Given the description of an element on the screen output the (x, y) to click on. 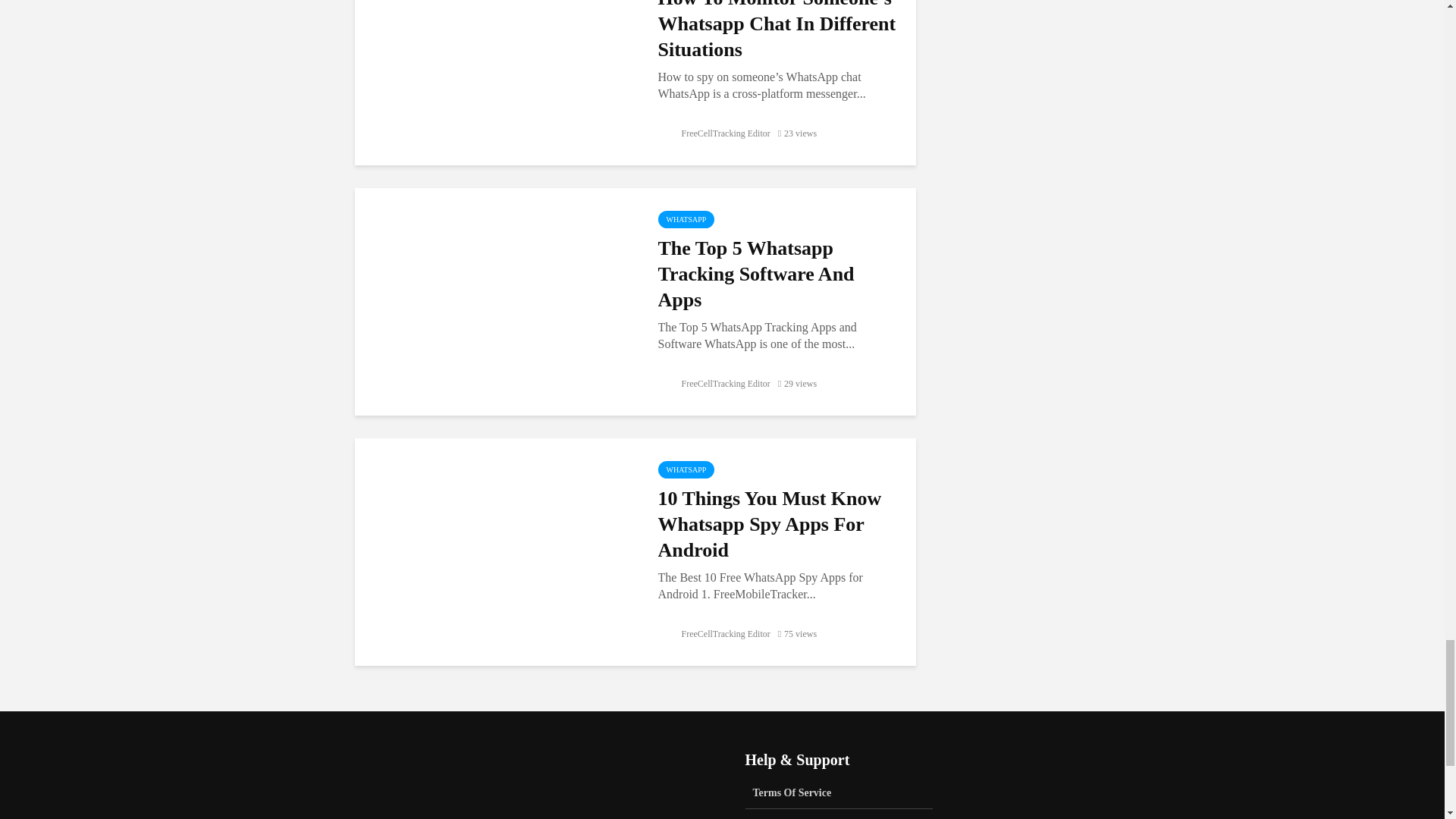
WHATSAPP (686, 469)
FreeCellTracking Editor (714, 383)
The Top 5 Whatsapp Tracking Software And Apps (494, 299)
The Top 5 Whatsapp Tracking Software And Apps (778, 273)
10 Things You Must Know Whatsapp Spy Apps For Android (494, 549)
10 Things You Must Know Whatsapp Spy Apps For Android (778, 524)
WHATSAPP (686, 219)
FreeCellTracking Editor (714, 633)
FreeCellTracking Editor (714, 132)
